Given the description of an element on the screen output the (x, y) to click on. 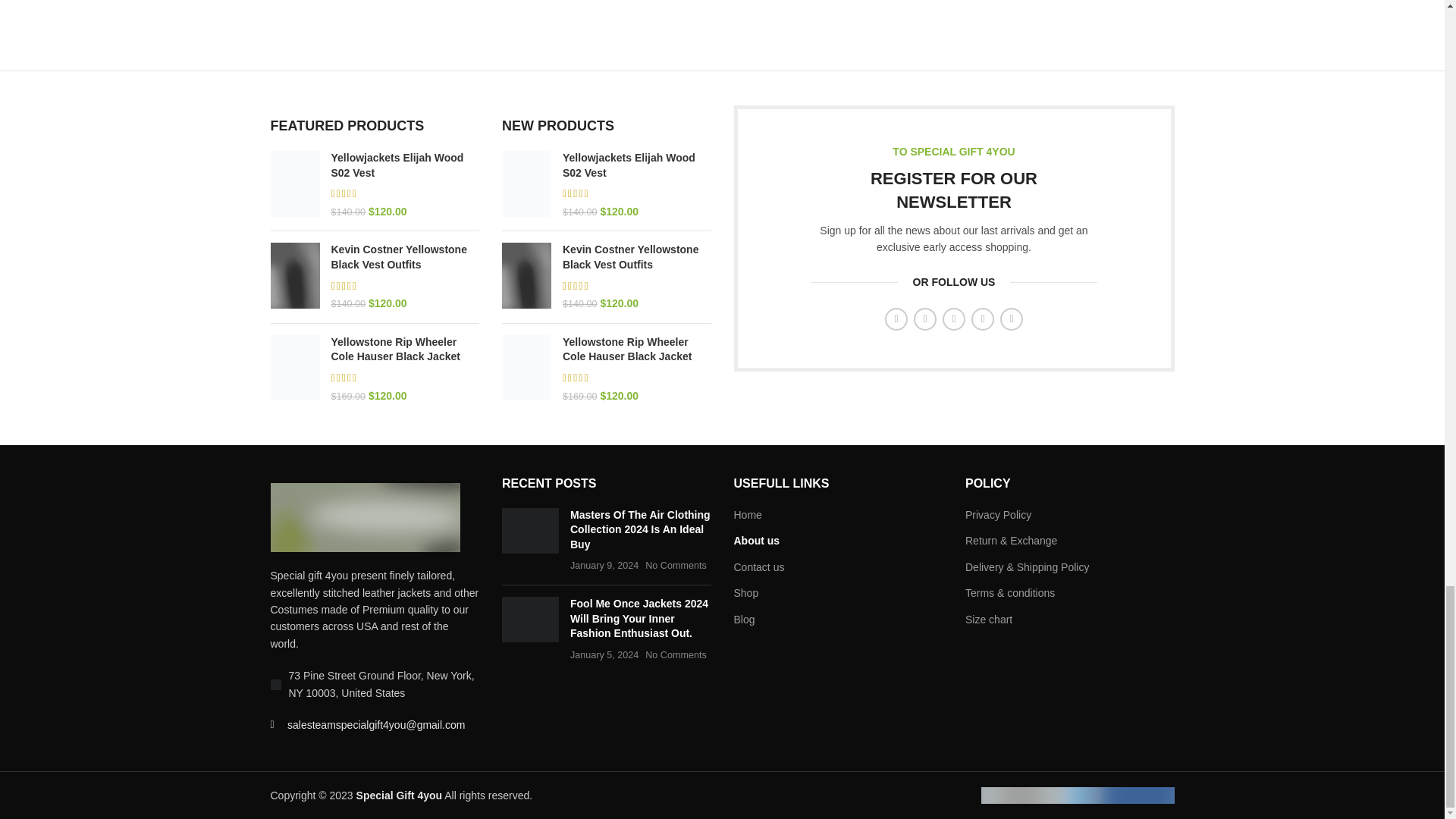
Kevin Costner Yellowstone Black Vest Outfits (636, 256)
Yellowstone Rip Wheeler Cole Hauser Black Jacket (404, 349)
Kevin Costner Yellowstone Black Vest Outfits (404, 256)
Yellowjackets Elijah Wood S02 Vest (636, 165)
Yellowjackets Elijah Wood S02 Vest (404, 165)
